Given the description of an element on the screen output the (x, y) to click on. 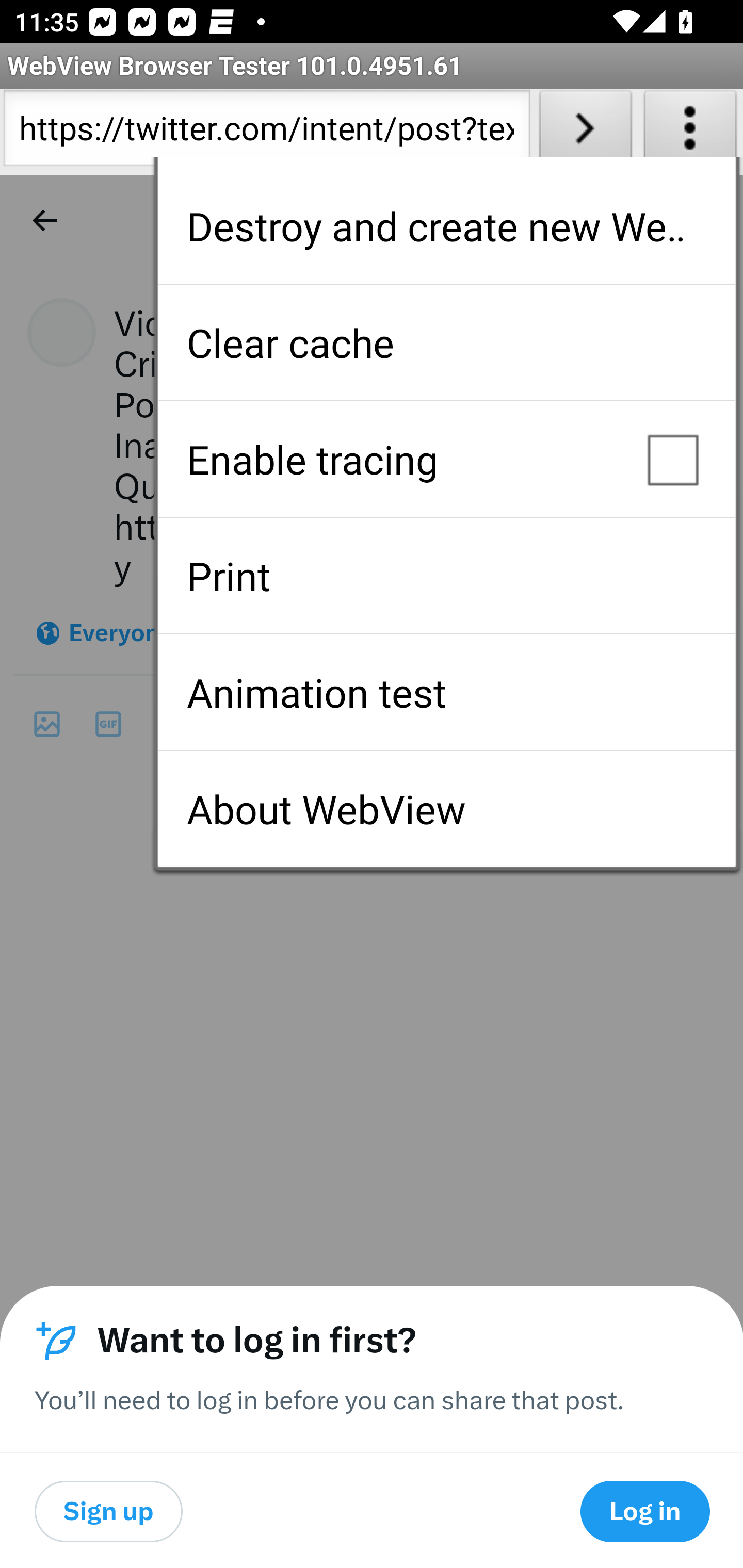
Destroy and create new WebView (446, 225)
Clear cache (446, 342)
Enable tracing (446, 459)
Print (446, 575)
Animation test (446, 692)
About WebView (446, 809)
